Given the description of an element on the screen output the (x, y) to click on. 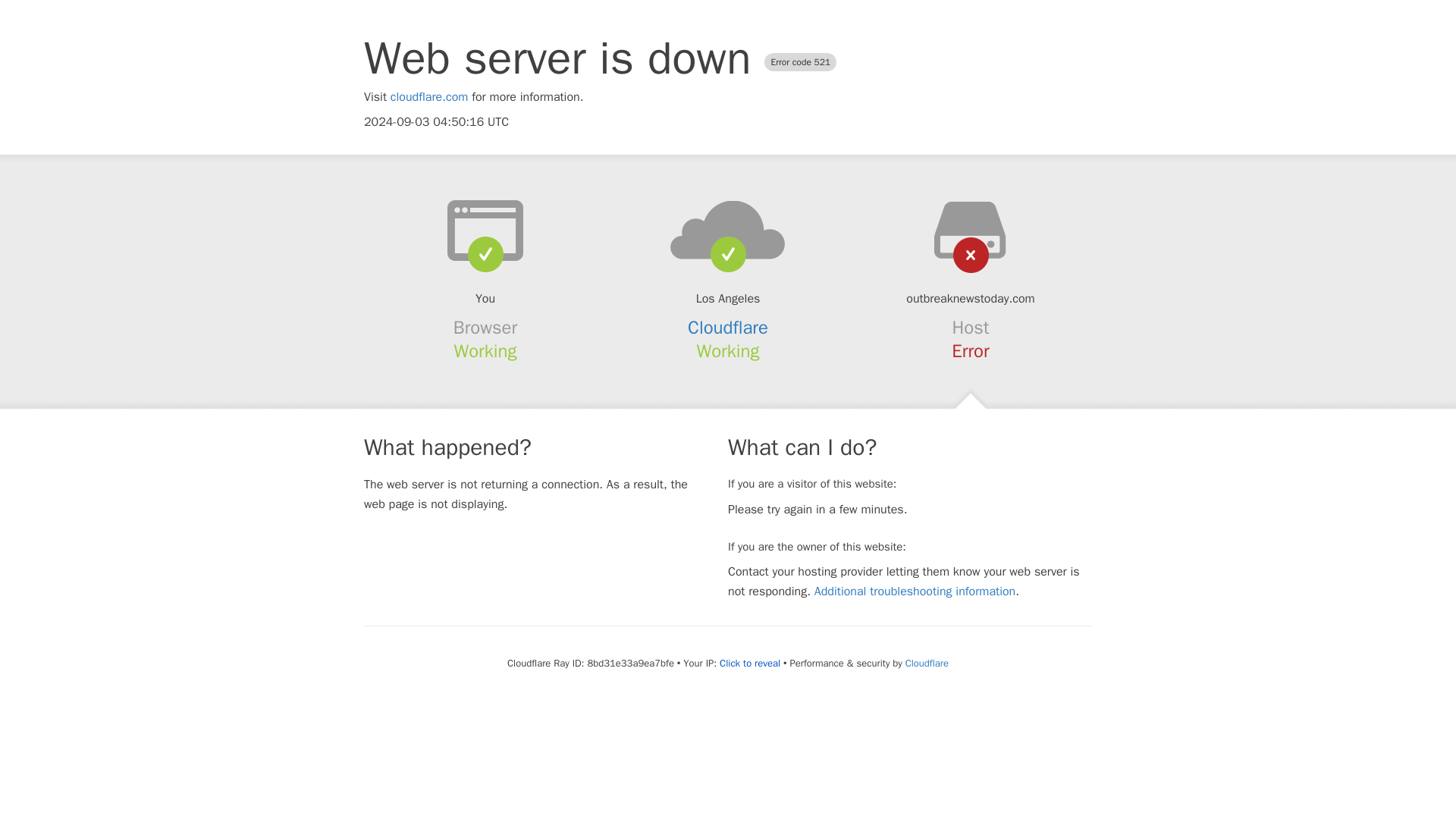
Cloudflare (927, 662)
Click to reveal (749, 663)
Cloudflare (727, 327)
Additional troubleshooting information (913, 590)
cloudflare.com (429, 96)
